Given the description of an element on the screen output the (x, y) to click on. 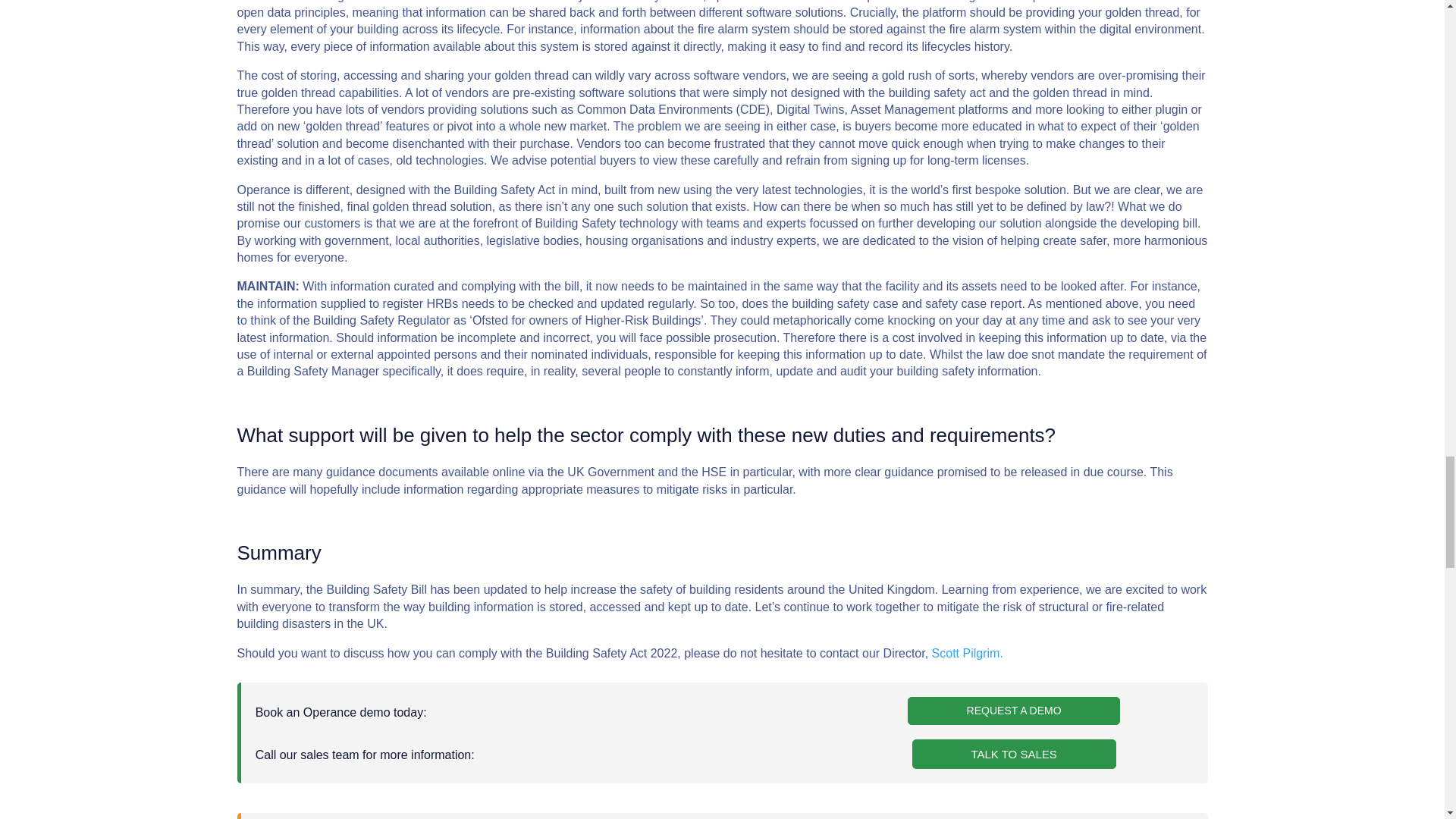
Scott Pilgrim. (967, 653)
REQUEST A DEMO (1014, 710)
TALK TO SALES (1014, 754)
